Given the description of an element on the screen output the (x, y) to click on. 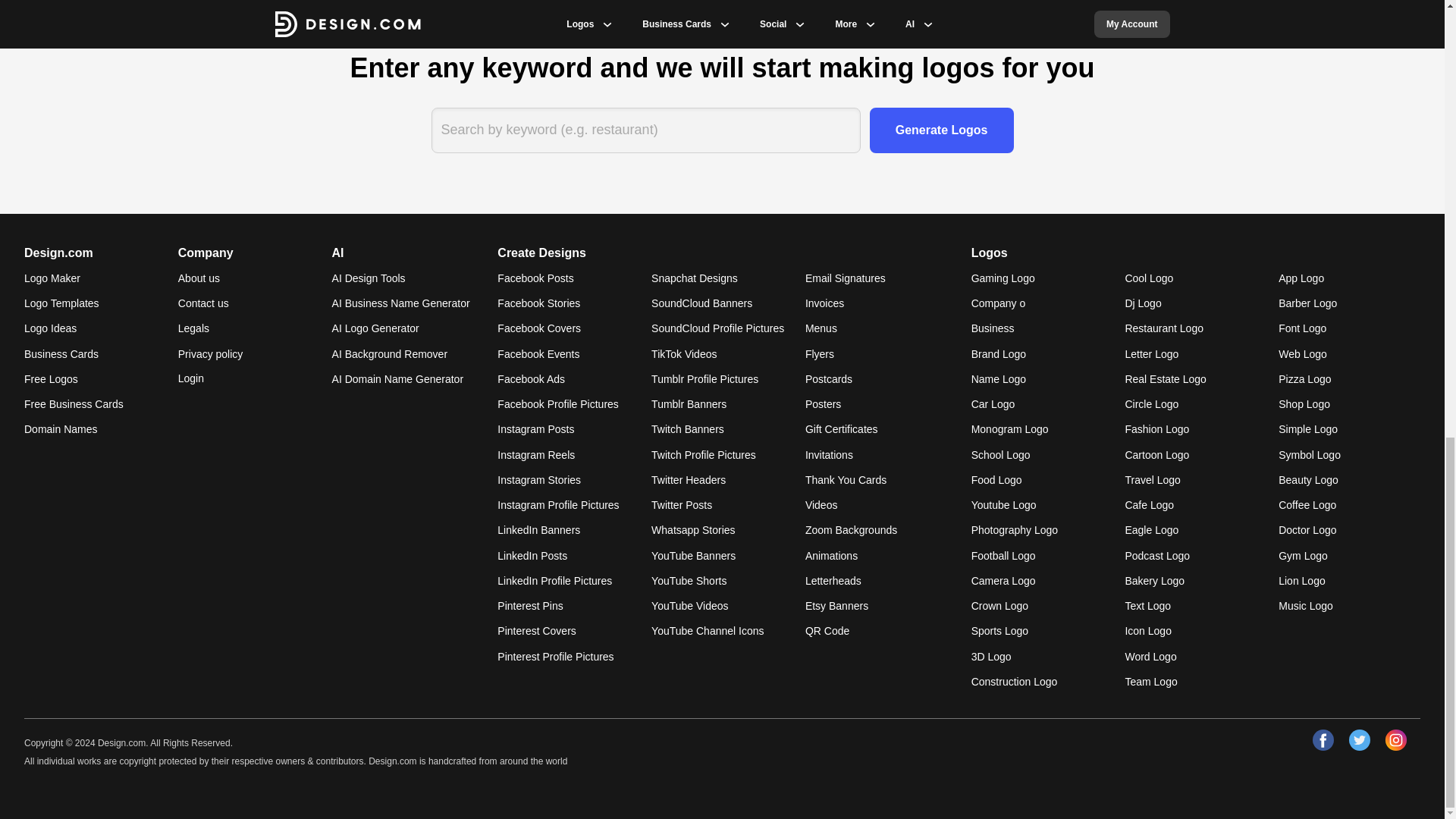
instagram (1395, 740)
facebook (1323, 740)
twitter (1359, 740)
